Given the description of an element on the screen output the (x, y) to click on. 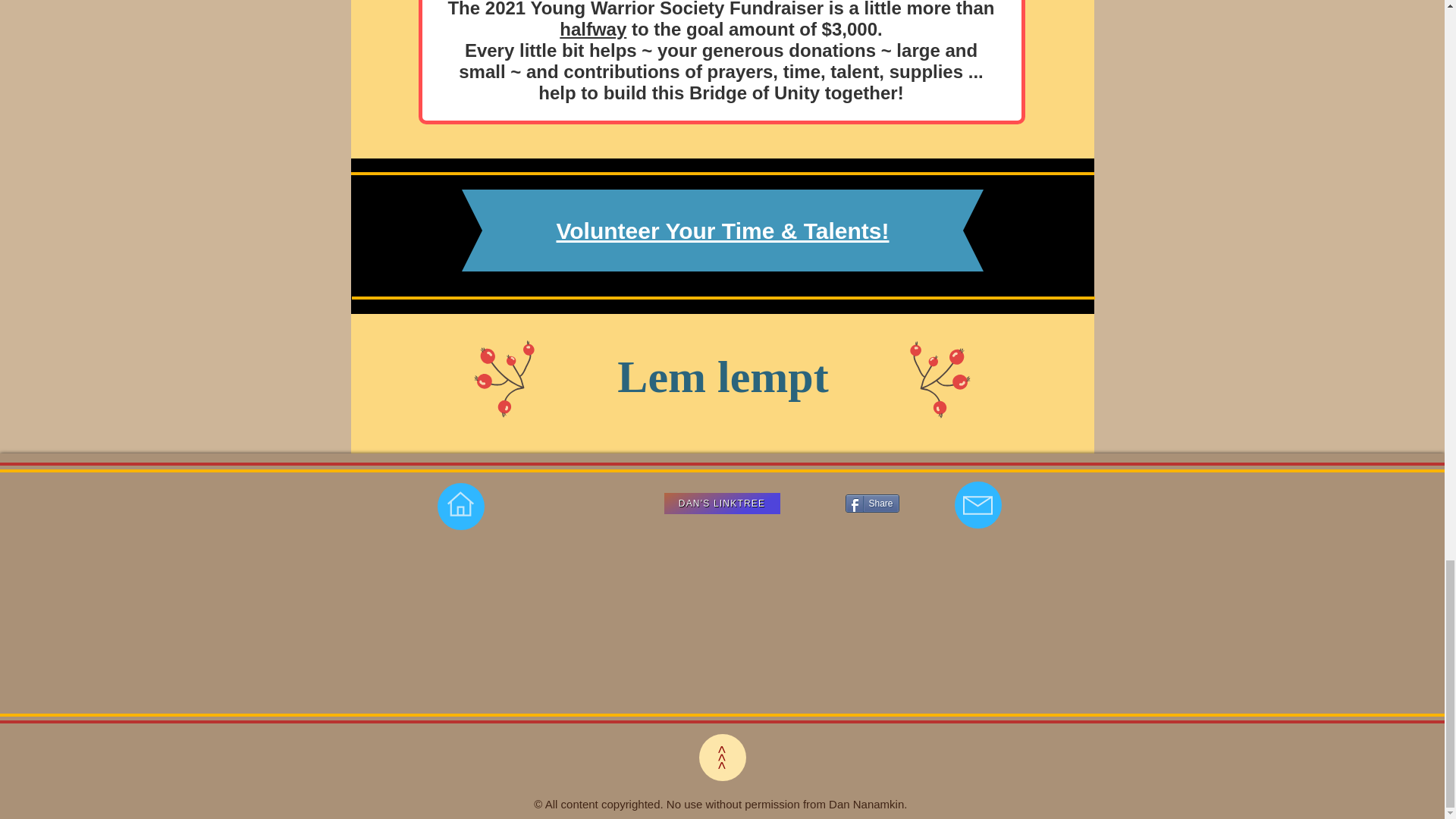
Share (871, 503)
Share (871, 503)
DAN'S LINKTREE (721, 503)
